Given the description of an element on the screen output the (x, y) to click on. 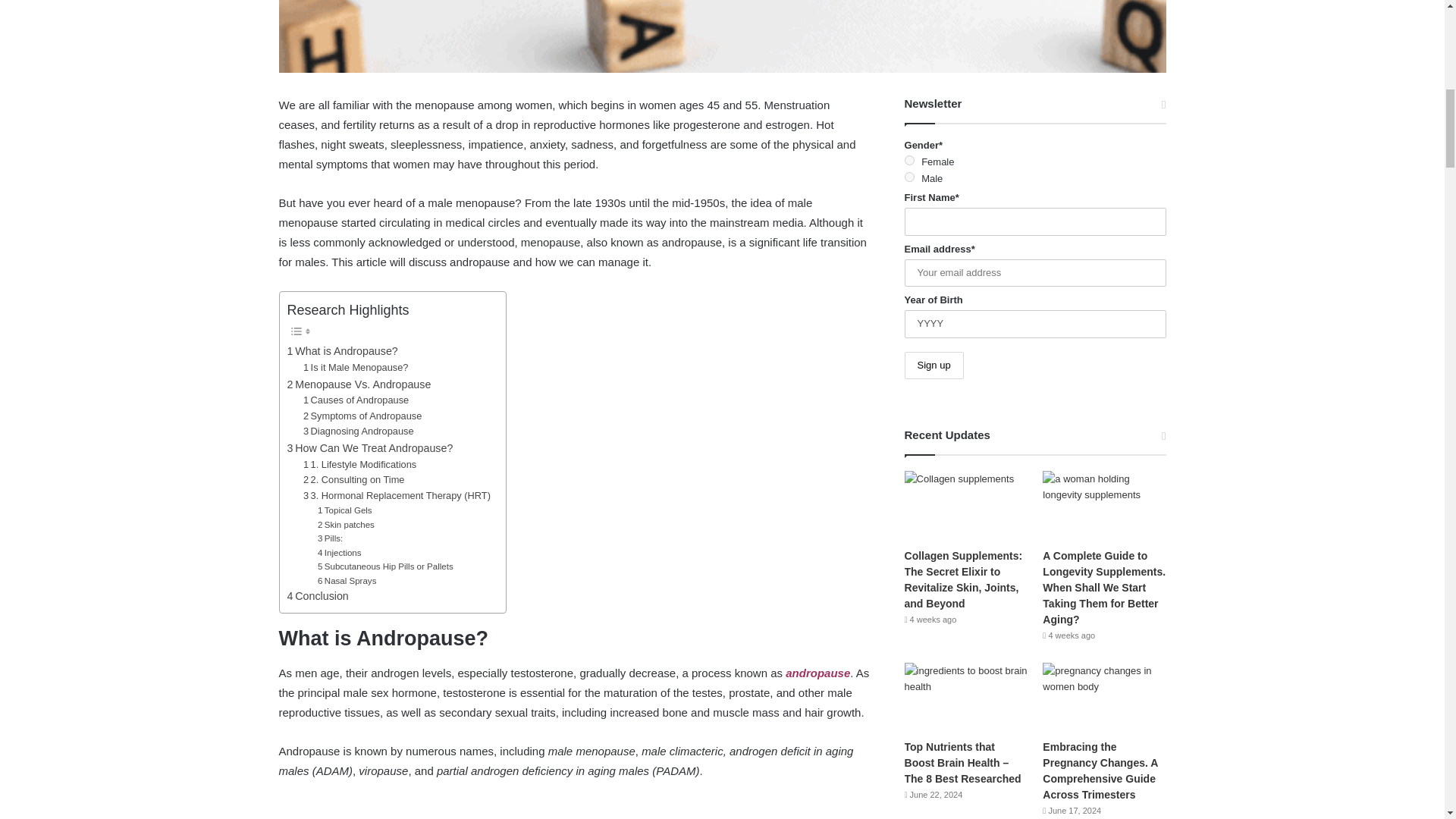
Male (909, 176)
YYYY (1035, 324)
2. Consulting on Time (353, 480)
1. Lifestyle Modifications (359, 465)
Menopause Vs. Andropause (358, 384)
Female (909, 160)
Sign up (933, 366)
Diagnosing Andropause (357, 431)
Is it Male Menopause? (355, 367)
Causes of Andropause (355, 400)
